Given the description of an element on the screen output the (x, y) to click on. 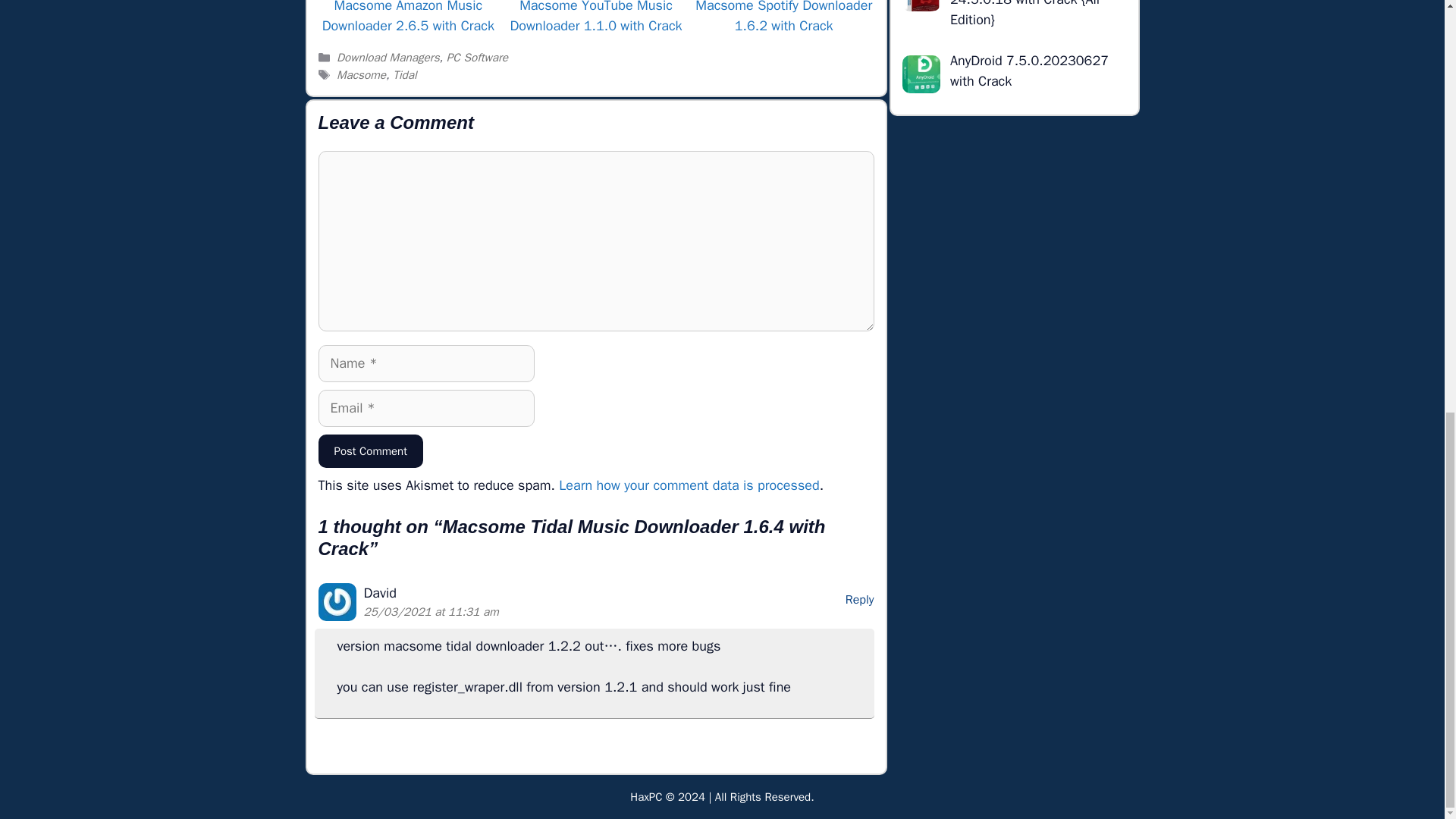
Post Comment (370, 451)
